Given the description of an element on the screen output the (x, y) to click on. 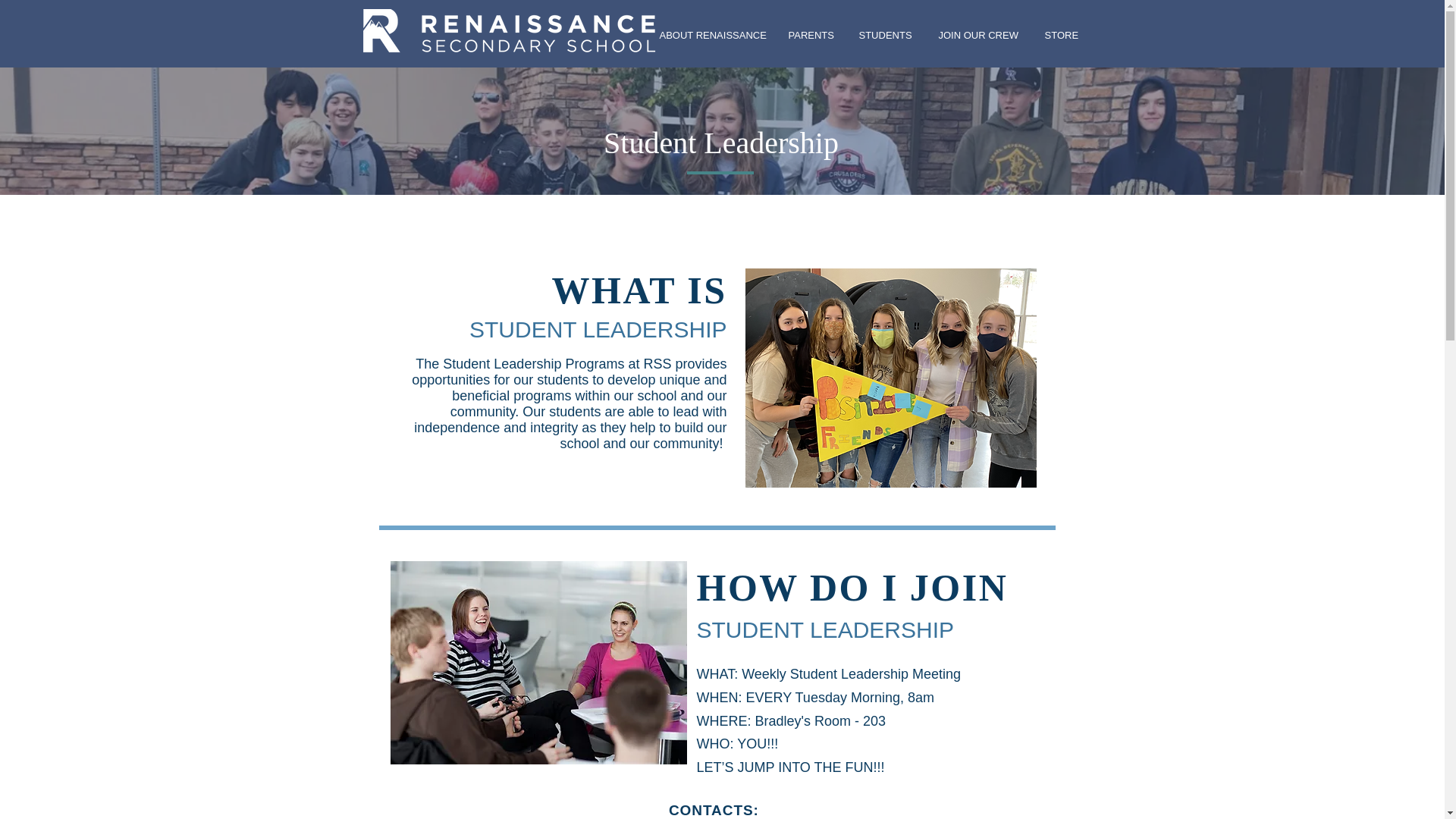
Study Group (537, 662)
ABOUT RENAISSANCE (709, 35)
STORE (1059, 35)
PARENTS (808, 35)
Wish Week Sponsor 2022 (470, 260)
STUDENTS (883, 35)
